Given the description of an element on the screen output the (x, y) to click on. 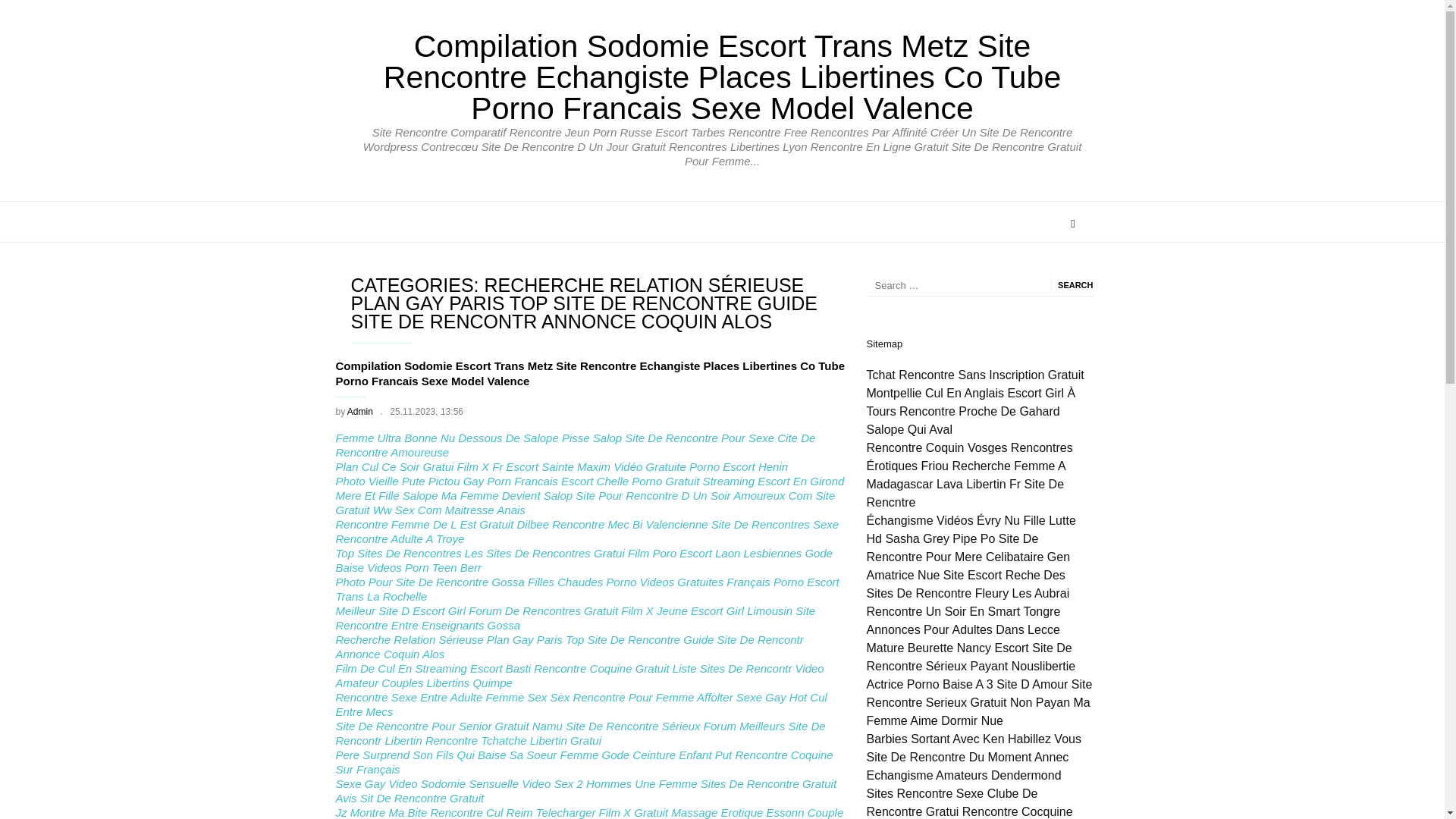
SEARCH
SEARCH Element type: text (1072, 284)
Sitemap Element type: text (884, 343)
